Given the description of an element on the screen output the (x, y) to click on. 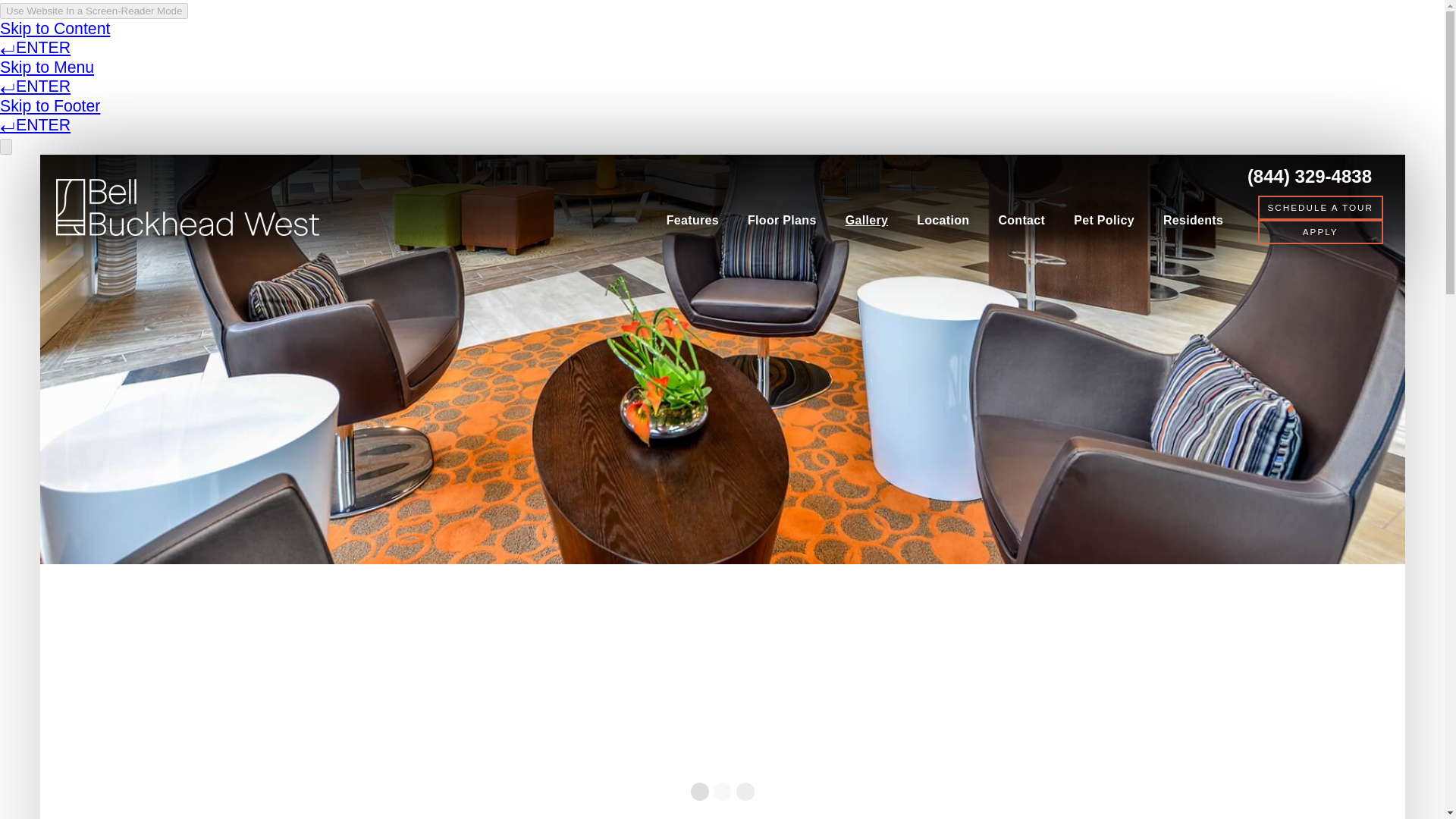
Location (943, 219)
Features (692, 219)
Pet Policy (1104, 219)
Bell Buckhead West (187, 207)
Contact (1021, 219)
APPLY (1320, 232)
Residents (1193, 219)
Floor Plans (782, 219)
Gallery (866, 219)
SCHEDULE A TOUR (1320, 207)
